Given the description of an element on the screen output the (x, y) to click on. 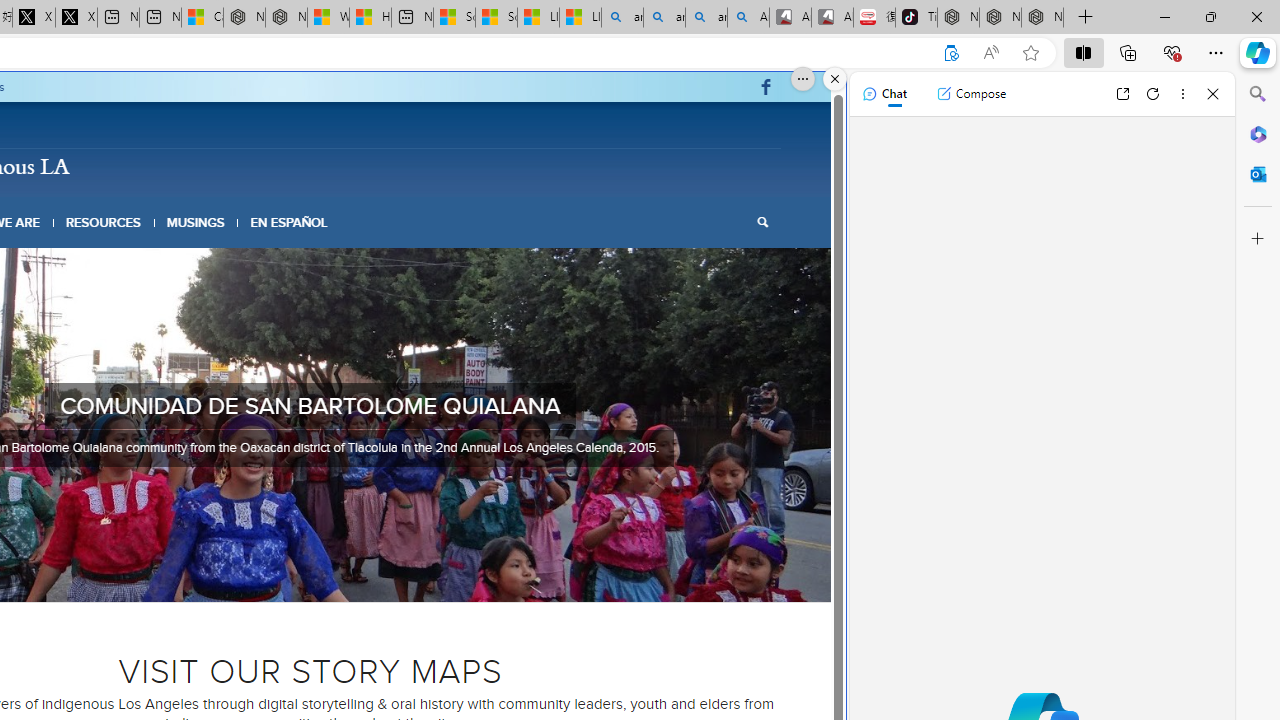
7 (350, 576)
Support THE UCLA FOUNDATION? (950, 53)
6 (333, 576)
Amazon Echo Robot - Search Images (748, 17)
Chat (884, 93)
More options. (803, 79)
